Given the description of an element on the screen output the (x, y) to click on. 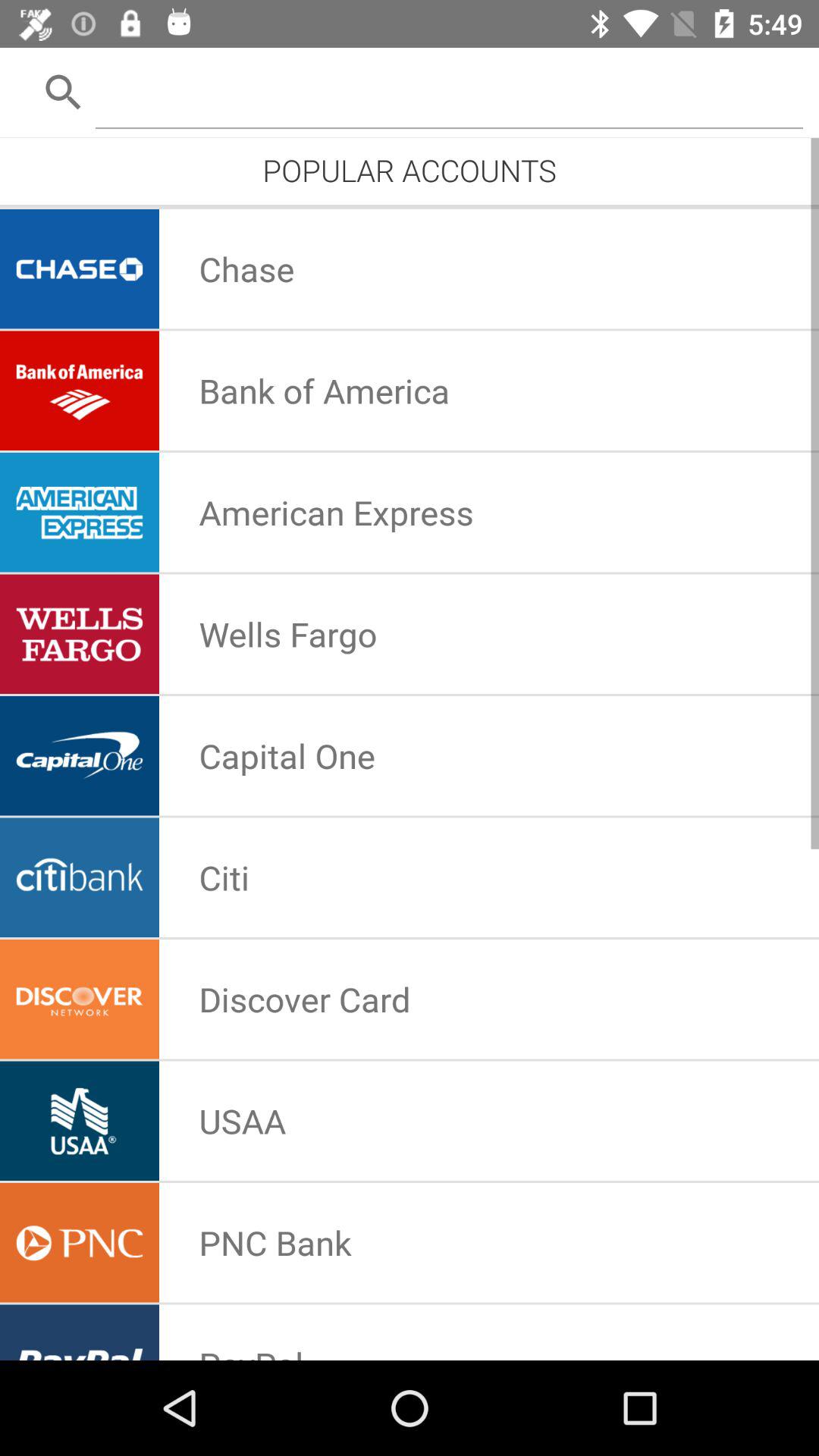
select item below the popular accounts app (409, 205)
